Given the description of an element on the screen output the (x, y) to click on. 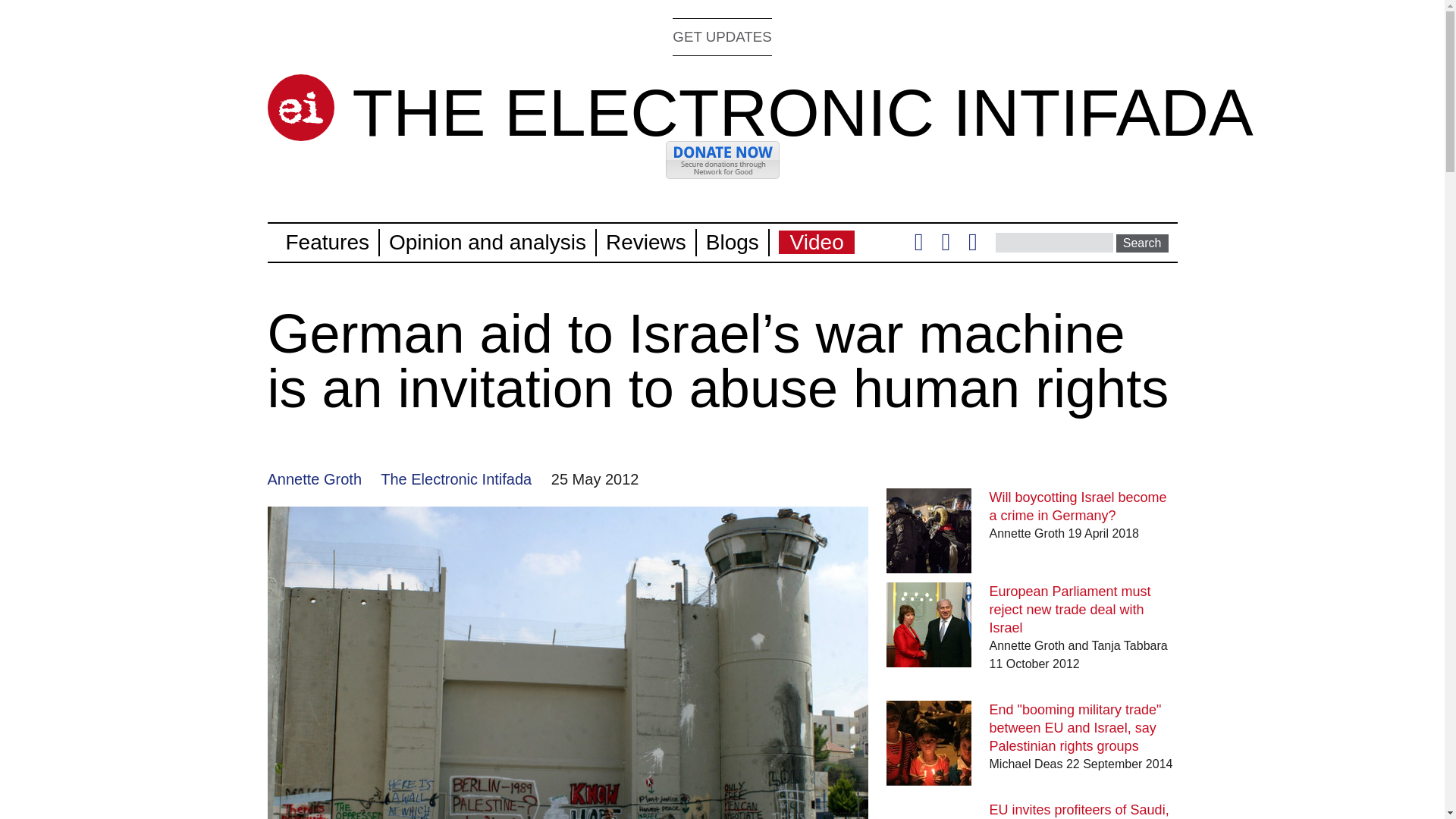
Home (802, 112)
Annette Groth (313, 478)
Home (299, 107)
Enter the terms you wish to search for. (1054, 242)
Facebook (945, 245)
GET UPDATES (721, 37)
YouTube (972, 245)
Search (1142, 243)
The Electronic Intifada (455, 478)
THE ELECTRONIC INTIFADA (802, 112)
Twitter (918, 245)
